Given the description of an element on the screen output the (x, y) to click on. 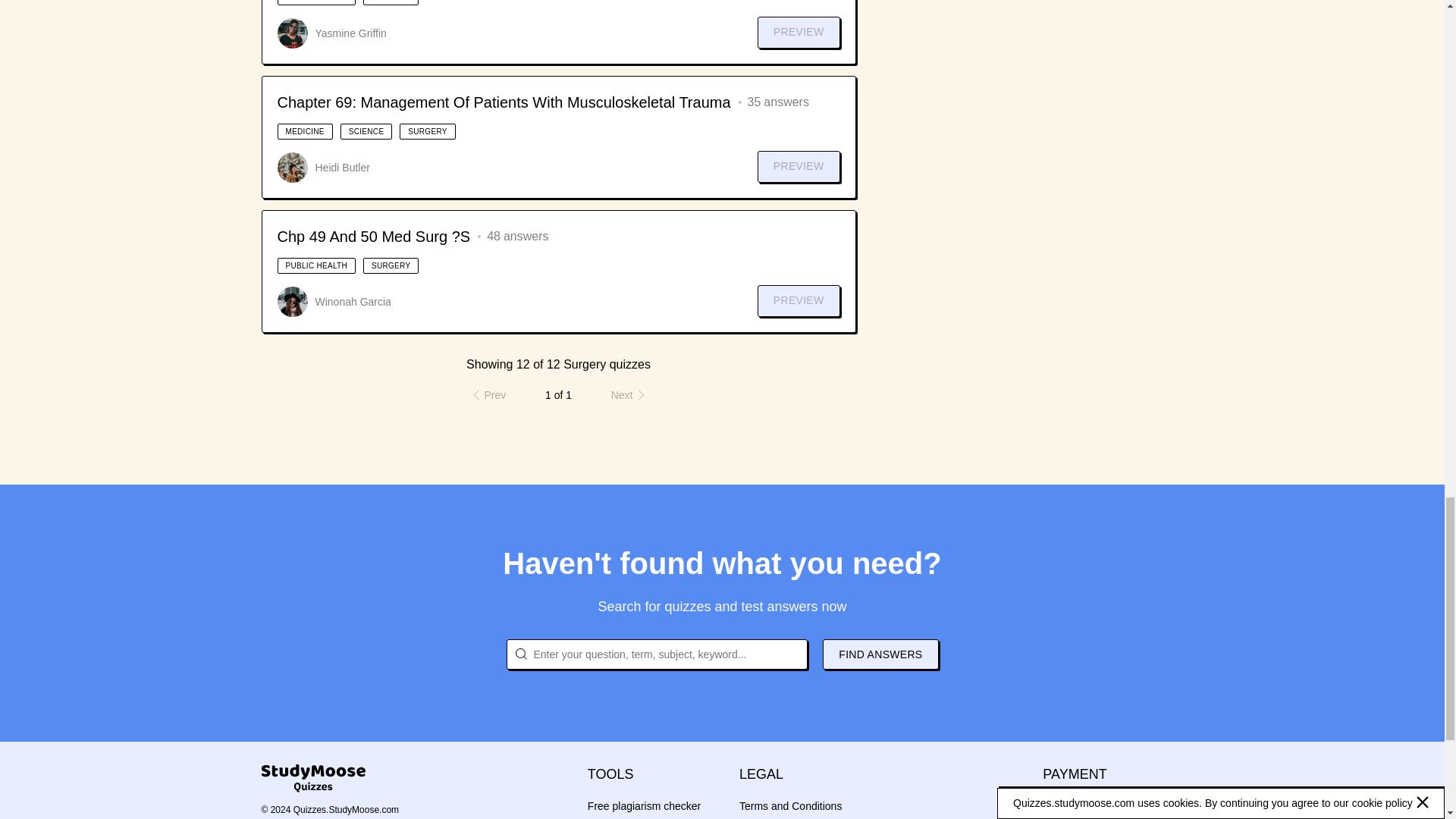
PREVIEW (798, 32)
